Given the description of an element on the screen output the (x, y) to click on. 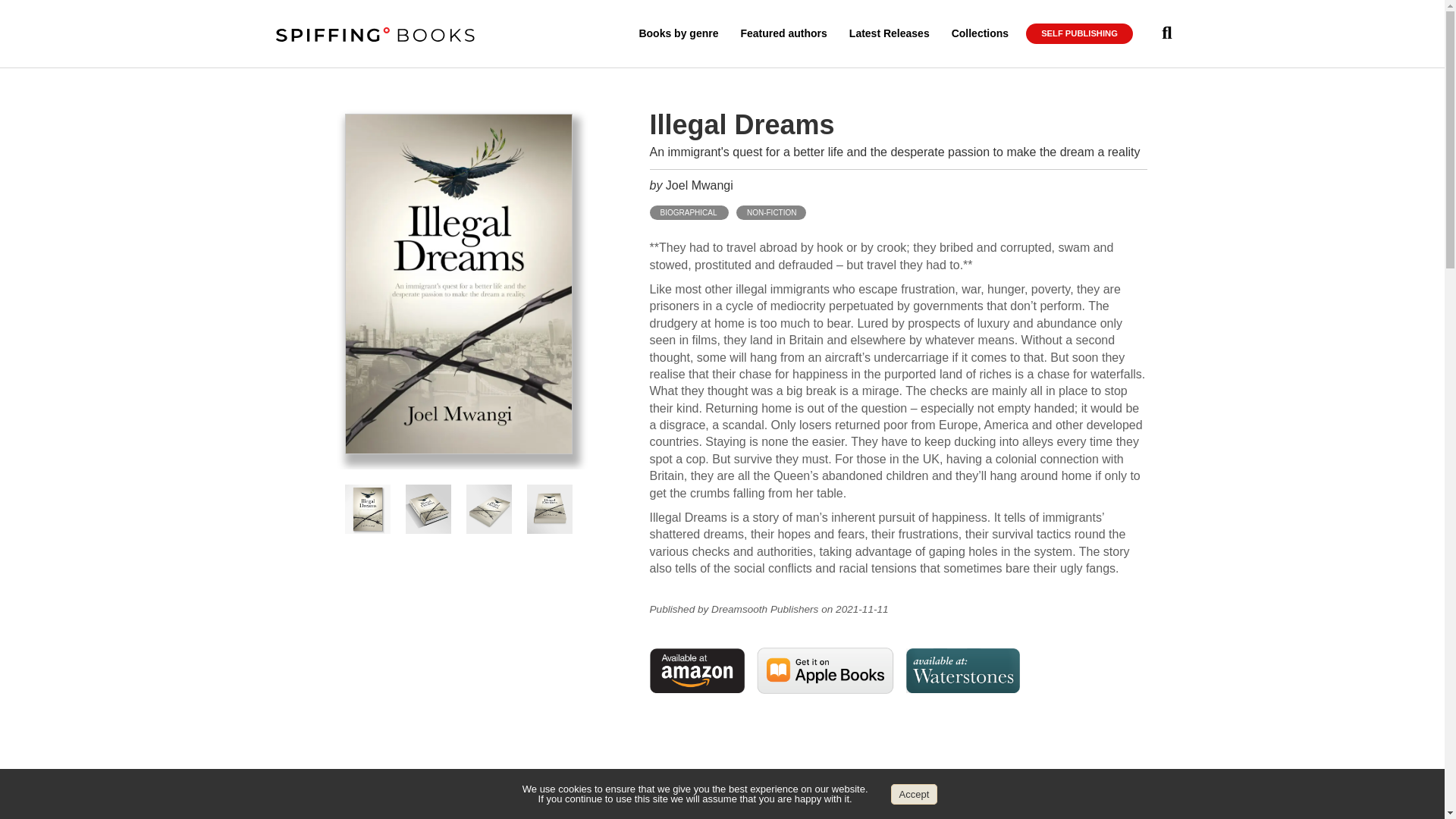
Featured authors (783, 33)
Collections (979, 33)
Latest Releases (889, 33)
Spiffing BOOKS (380, 34)
Books by genre (678, 33)
SELF PUBLISHING (1079, 34)
